Given the description of an element on the screen output the (x, y) to click on. 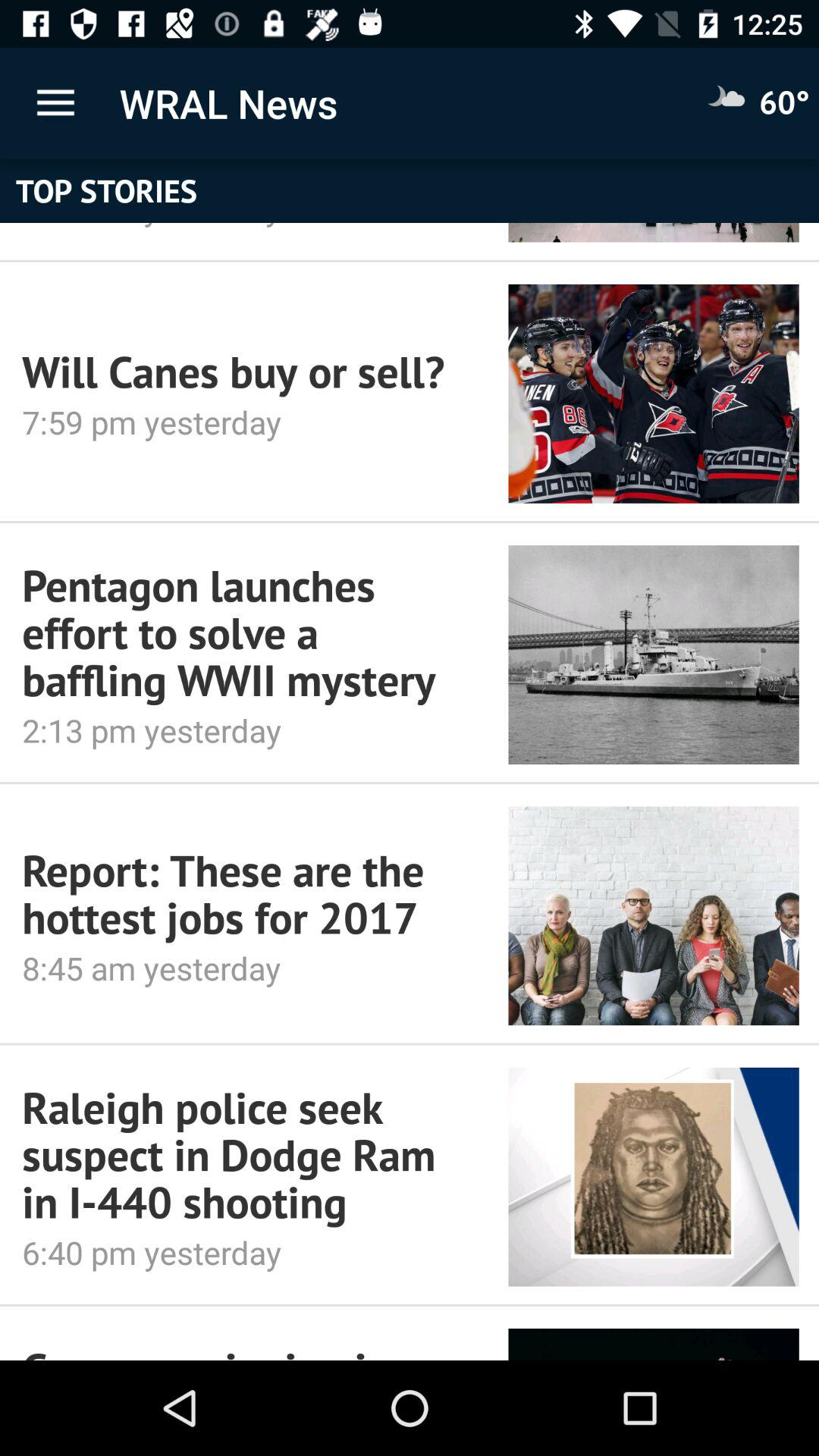
turn off item to the left of the wral news icon (55, 103)
